Given the description of an element on the screen output the (x, y) to click on. 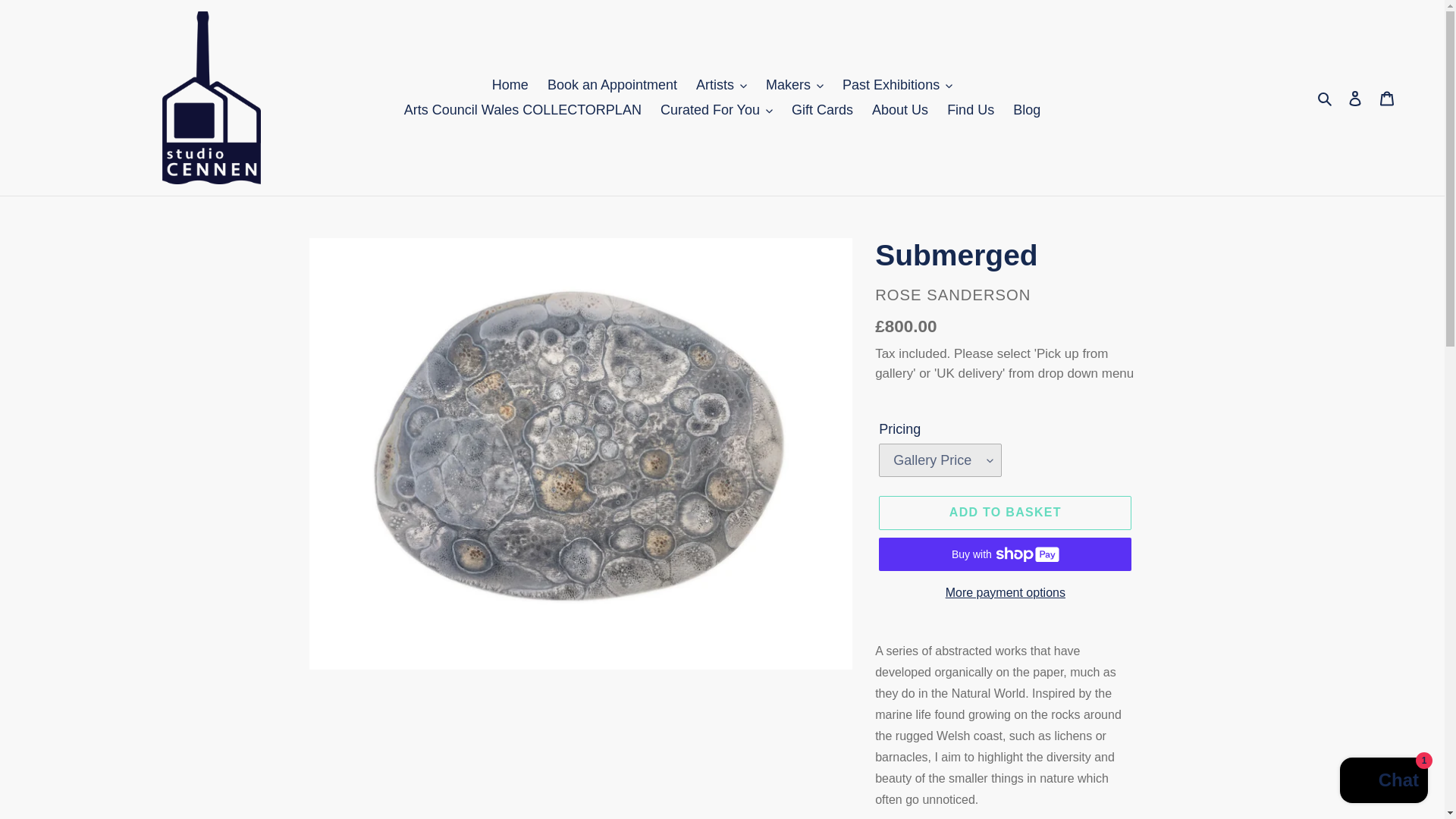
Shopify online store chat (1383, 781)
Artists (721, 84)
Home (509, 84)
Book an Appointment (612, 84)
